Given the description of an element on the screen output the (x, y) to click on. 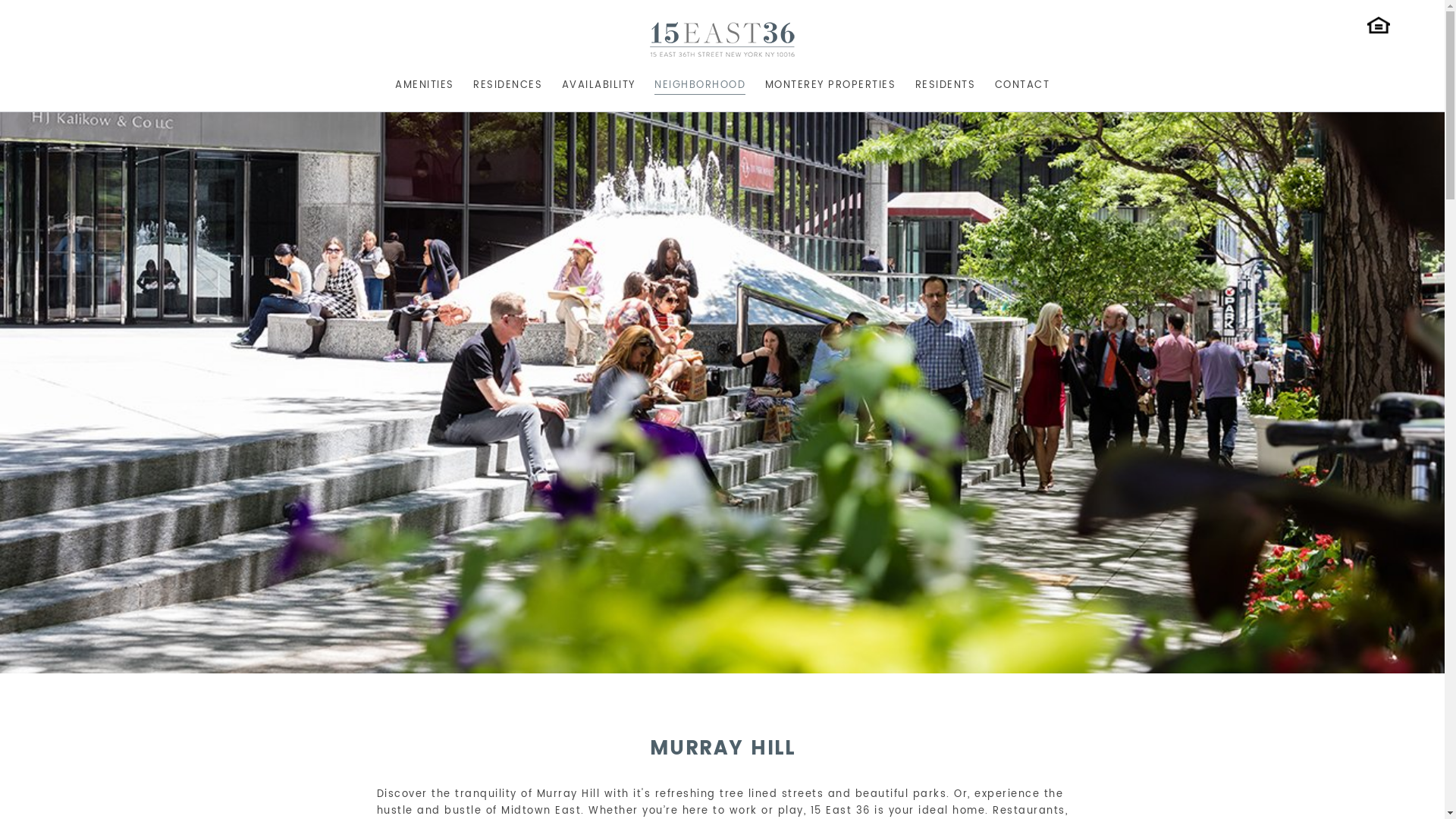
MONTEREY PROPERTIES Element type: text (829, 82)
AVAILABILITY Element type: text (597, 82)
NEIGHBORHOOD Element type: text (699, 82)
RESIDENCES Element type: text (507, 82)
AMENITIES Element type: text (424, 82)
RESIDENTS Element type: text (944, 82)
CONTACT Element type: text (1022, 82)
